Given the description of an element on the screen output the (x, y) to click on. 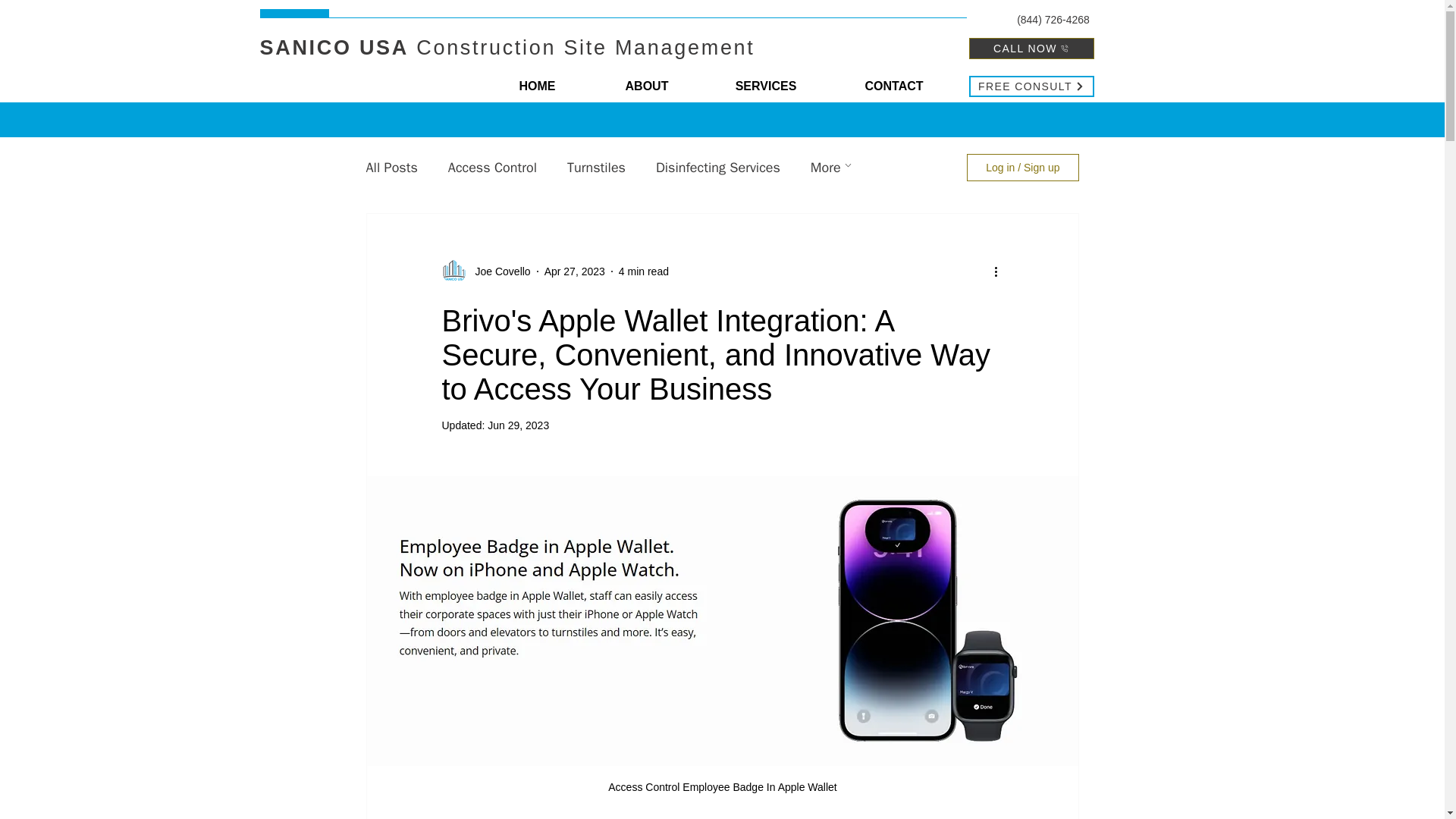
SERVICES (765, 86)
ABOUT (646, 86)
SANICO USA Construction Site Management (506, 47)
CALL NOW (1031, 47)
Apr 27, 2023 (574, 271)
Disinfecting Services (718, 167)
Access Control (492, 167)
Turnstiles (596, 167)
CONTACT (893, 86)
4 min read (643, 271)
